Given the description of an element on the screen output the (x, y) to click on. 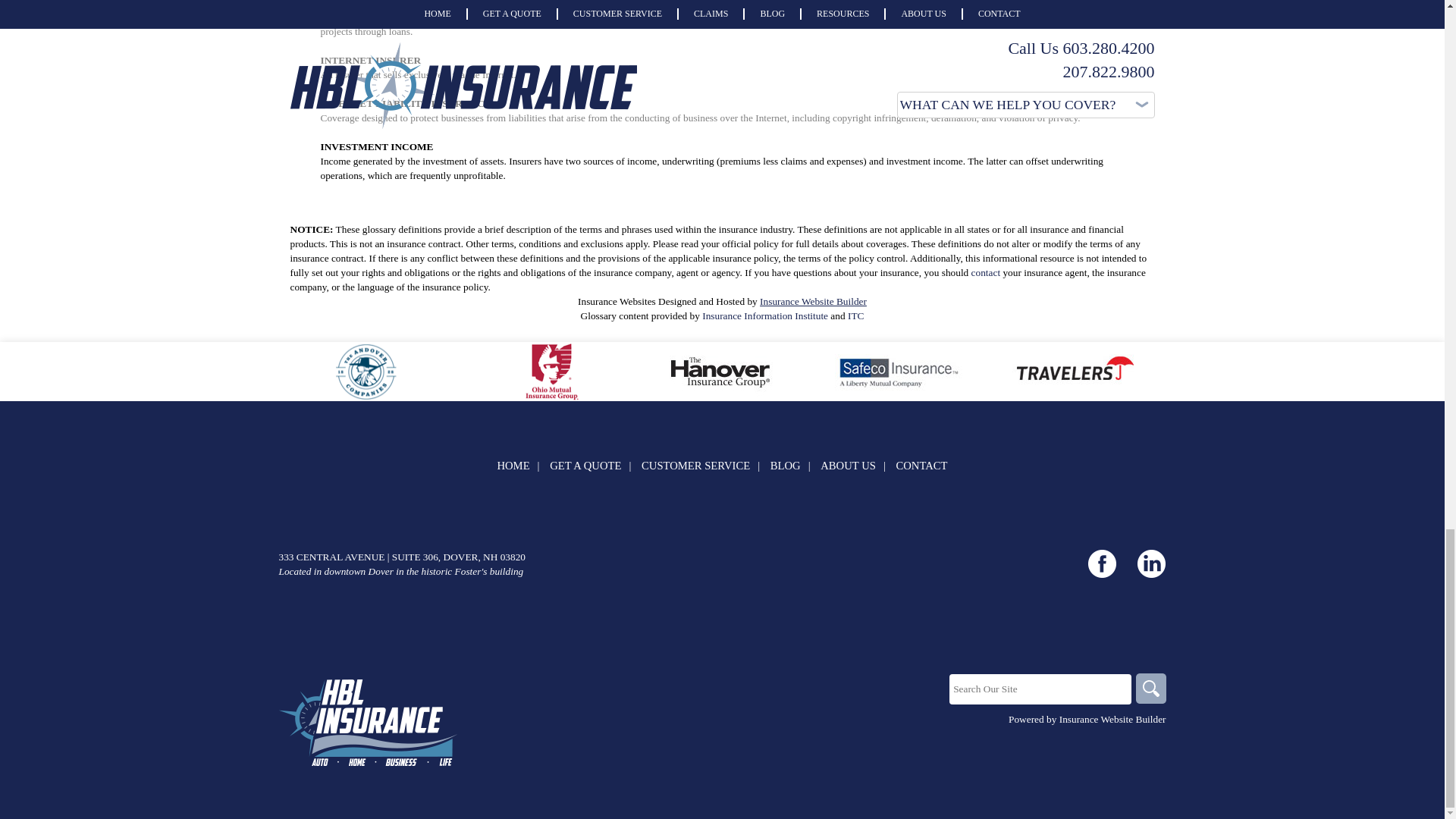
Insurance Website Builder (1112, 718)
